Given the description of an element on the screen output the (x, y) to click on. 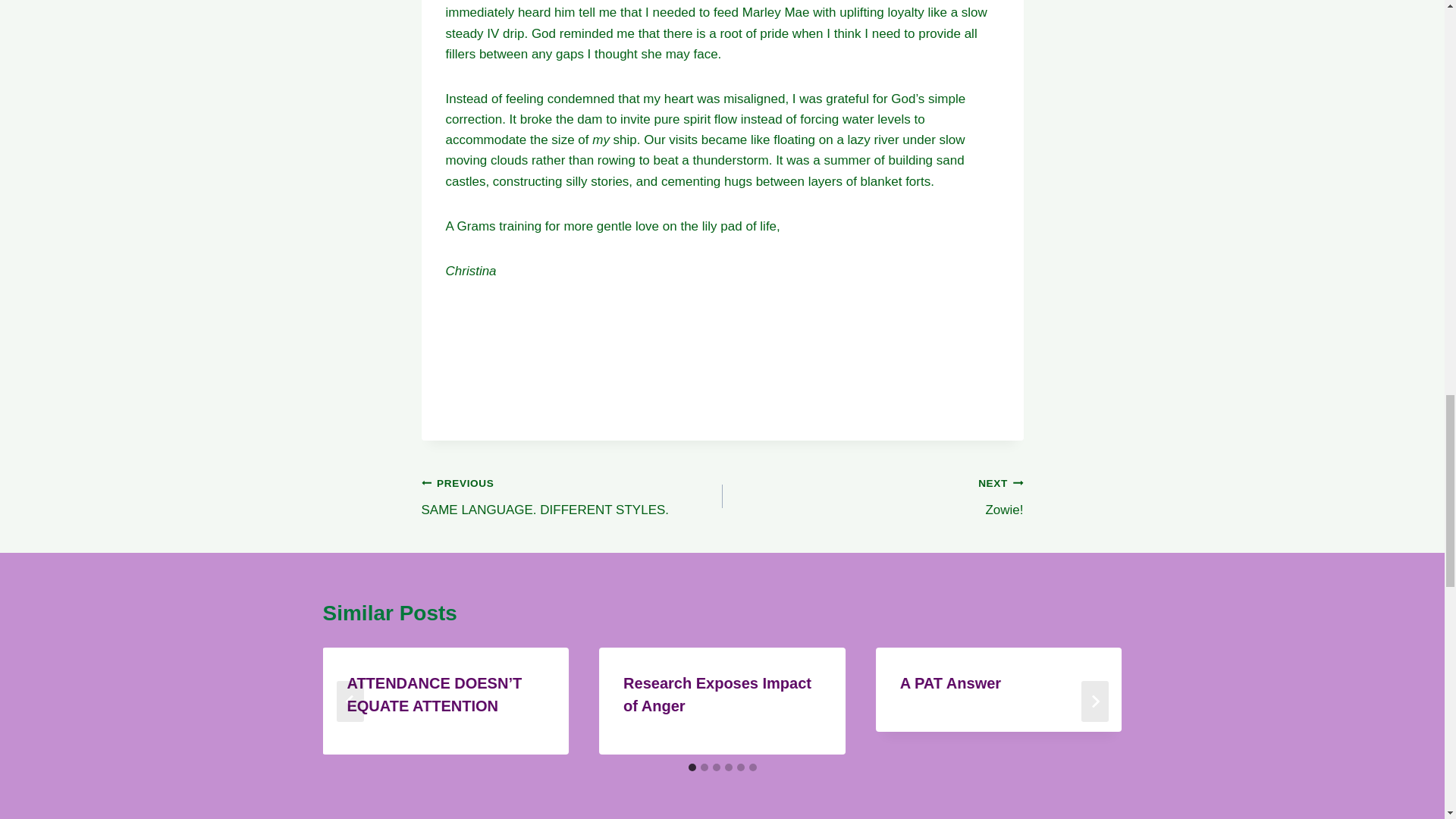
Research Exposes Impact of Anger (572, 496)
A PAT Answer (872, 496)
